Given the description of an element on the screen output the (x, y) to click on. 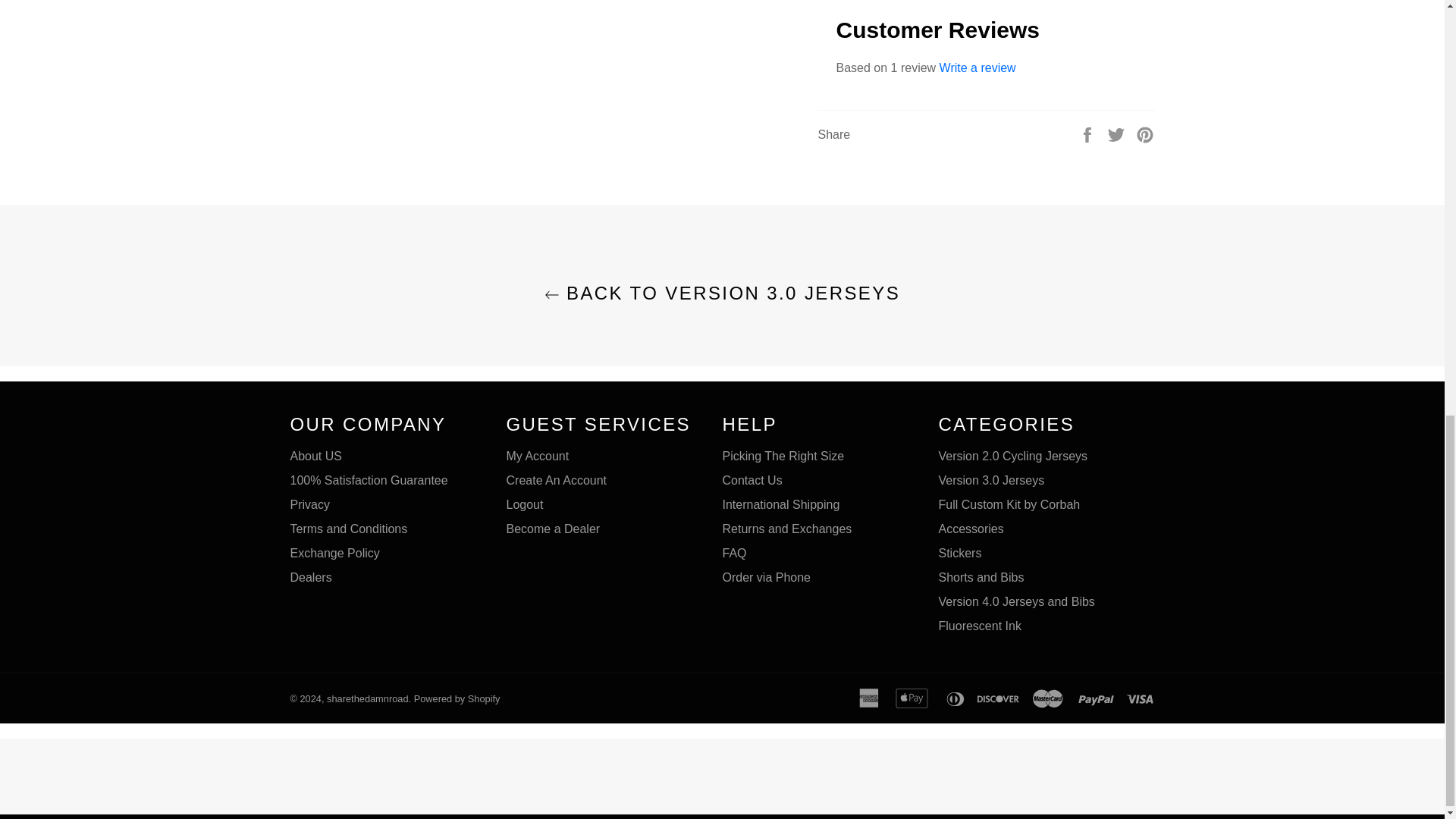
Advertisement (721, 780)
Pin on Pinterest (1144, 133)
Tweet on Twitter (1117, 133)
Share on Facebook (1088, 133)
